Given the description of an element on the screen output the (x, y) to click on. 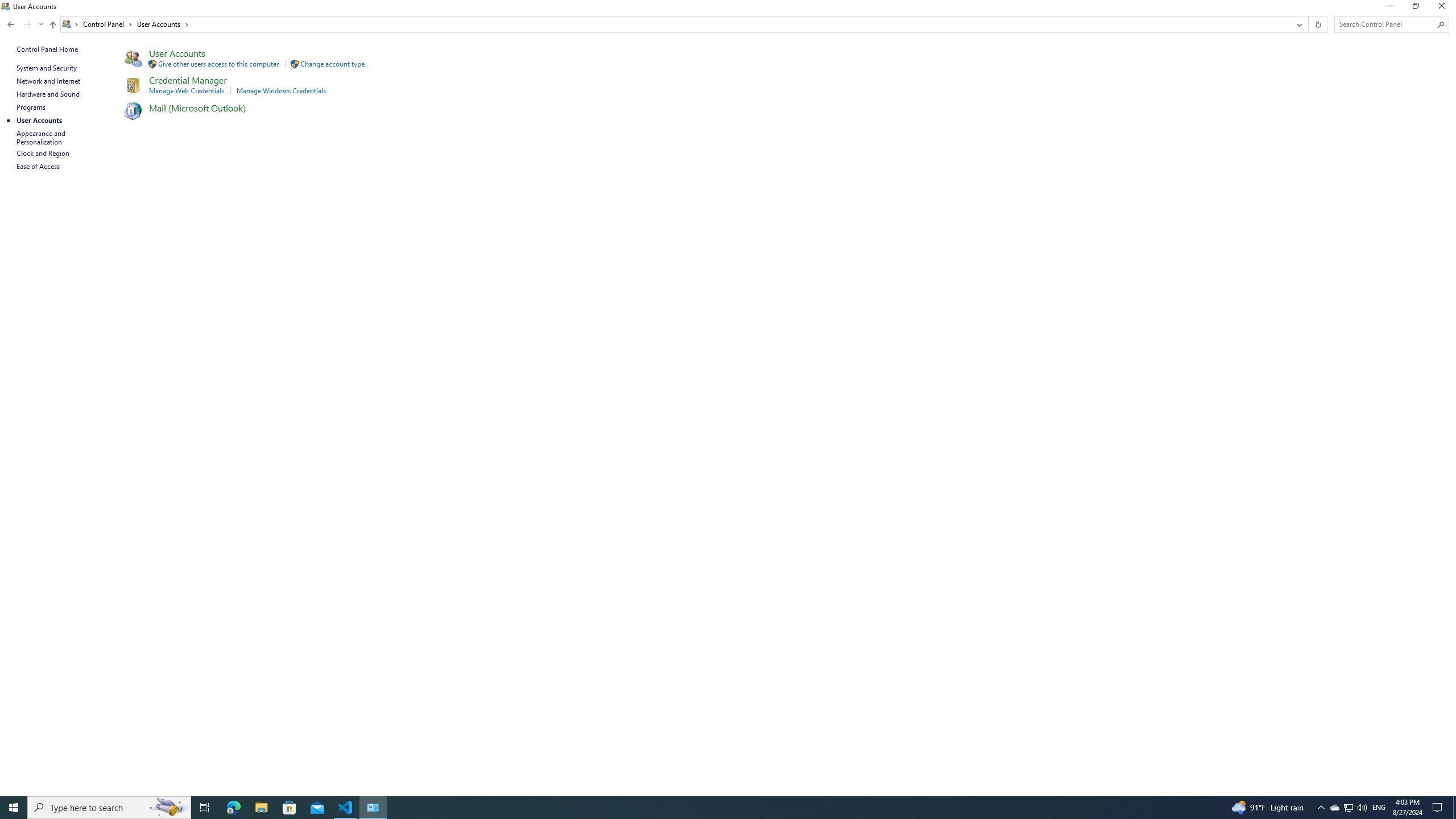
User Accounts (162, 23)
Forward (Alt + Right Arrow) (27, 23)
Up band toolbar (52, 26)
System and Security (47, 67)
Manage Web Credentials (186, 90)
User Accounts (177, 52)
System (6, 6)
Change account type (331, 63)
Control Panel Home (47, 49)
Hardware and Sound (48, 94)
